Given the description of an element on the screen output the (x, y) to click on. 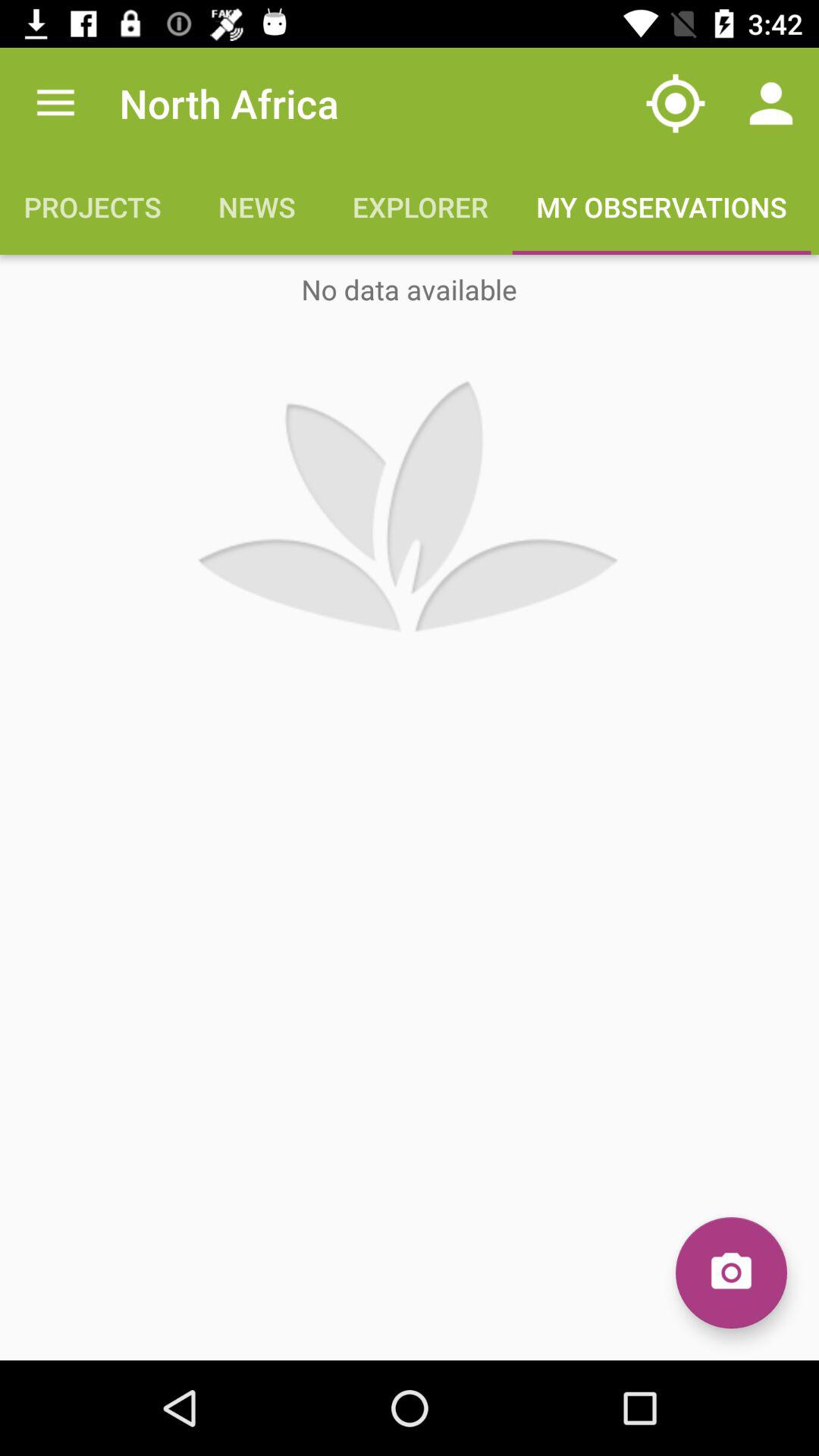
turn off item above projects icon (55, 103)
